Given the description of an element on the screen output the (x, y) to click on. 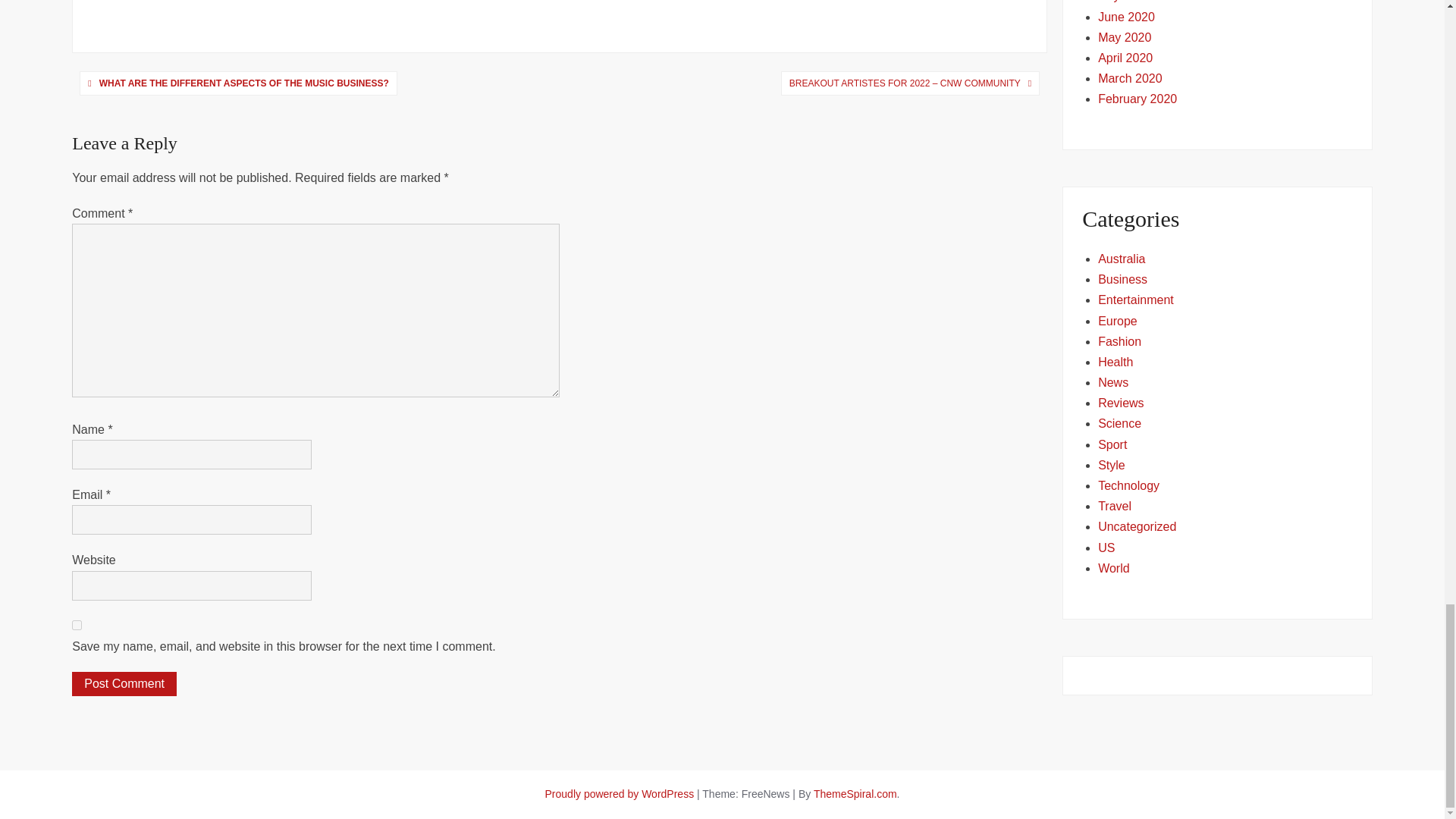
yes (76, 624)
Post Comment (123, 683)
